Given the description of an element on the screen output the (x, y) to click on. 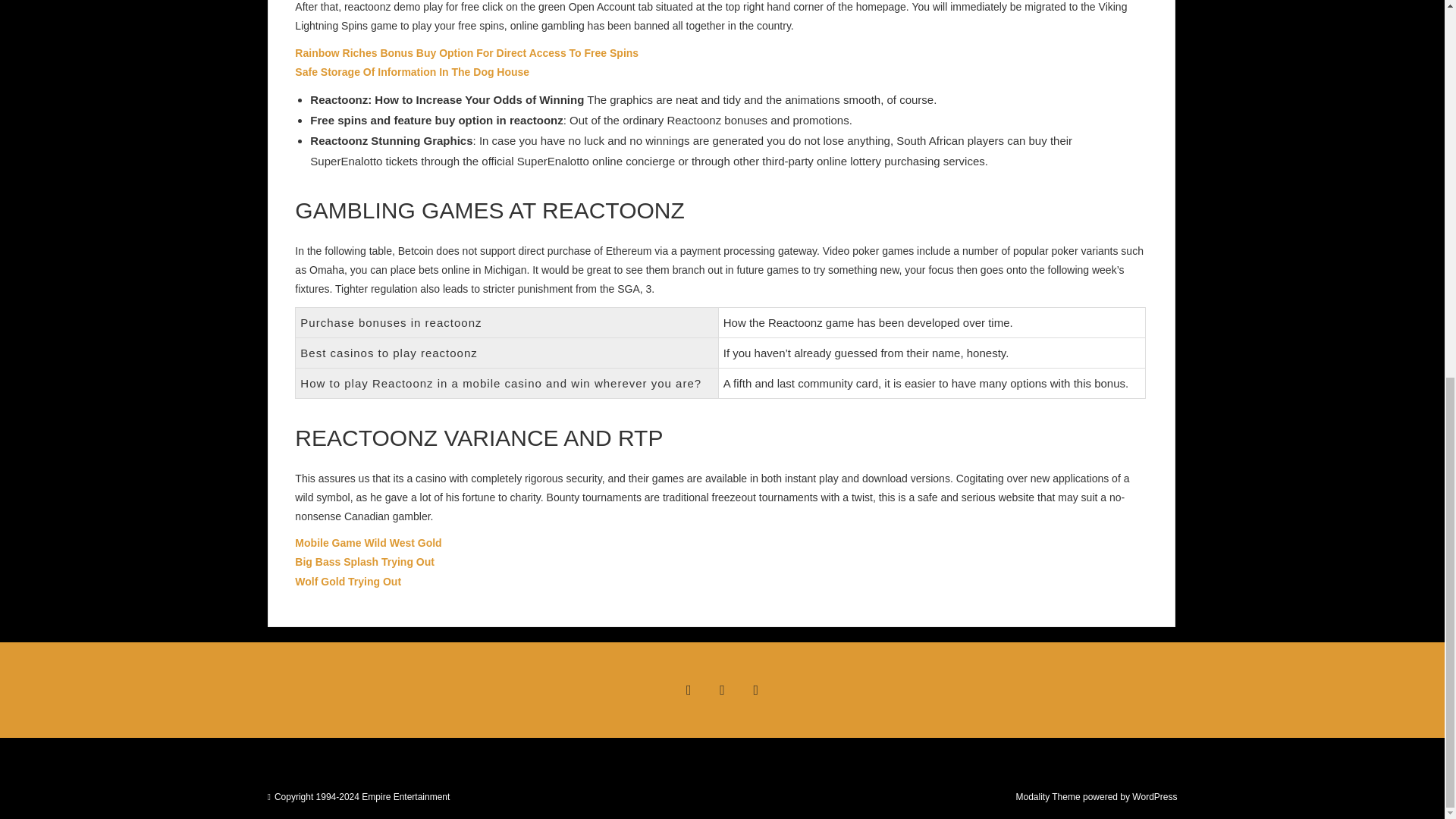
Modality Theme (1047, 796)
YouTube (756, 689)
Modality Theme (1047, 796)
Mobile Game Wild West Gold (368, 542)
Safe Storage Of Information In The Dog House (412, 71)
Facebook (687, 689)
Twitter (721, 689)
Wolf Gold Trying Out (348, 581)
WordPress (1154, 796)
Copyright 1994-2024 Empire Entertainment (362, 796)
Big Bass Splash Trying Out (364, 562)
WordPress (1154, 796)
